Given the description of an element on the screen output the (x, y) to click on. 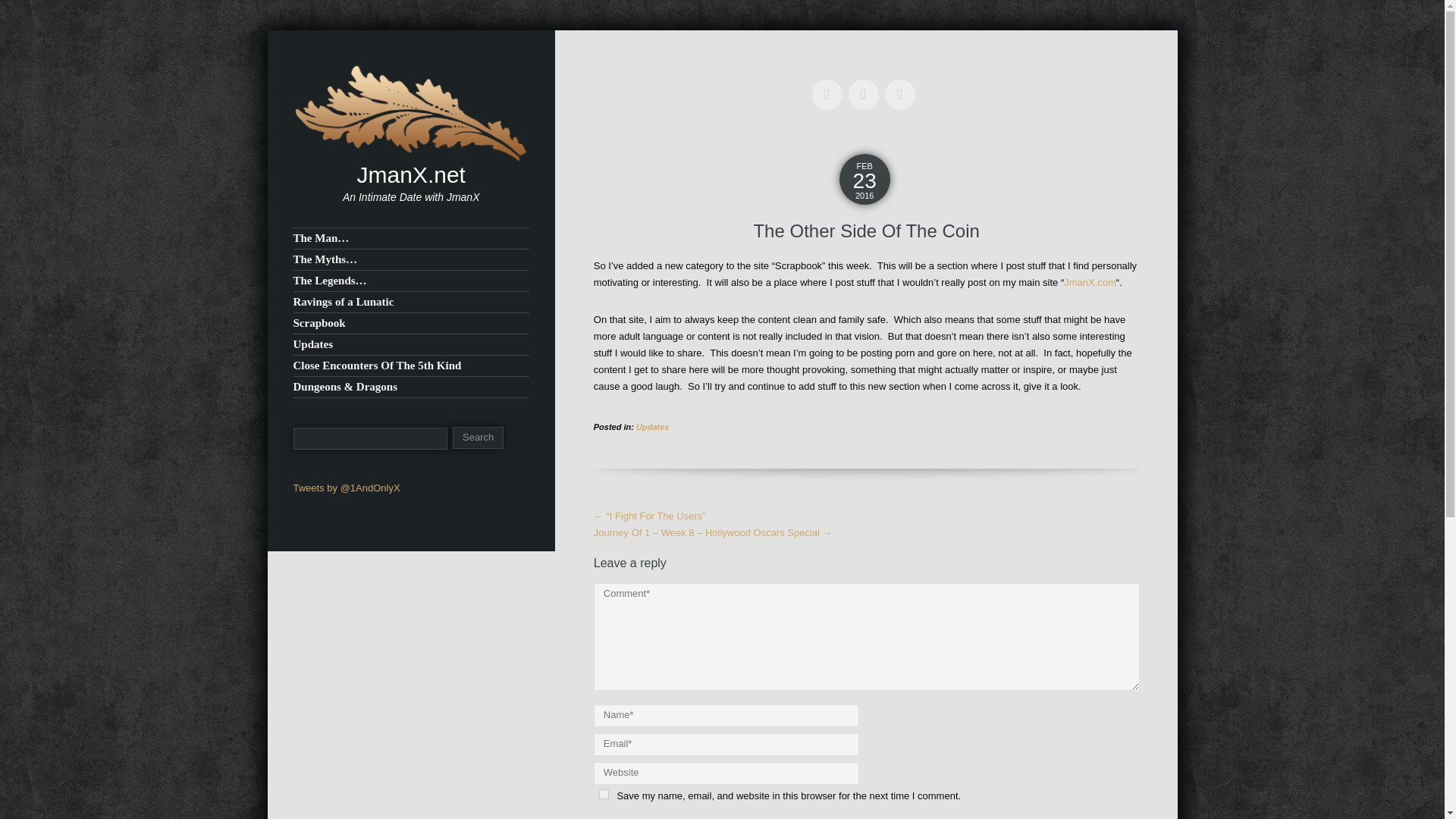
Search (477, 436)
Youtube (866, 83)
JmanX.net (410, 174)
JmanX.net (410, 111)
Updates (652, 426)
yes (603, 793)
Twitter (830, 83)
Vimeo (903, 83)
JmanX.net (410, 174)
JmanX.com (1090, 282)
